Given the description of an element on the screen output the (x, y) to click on. 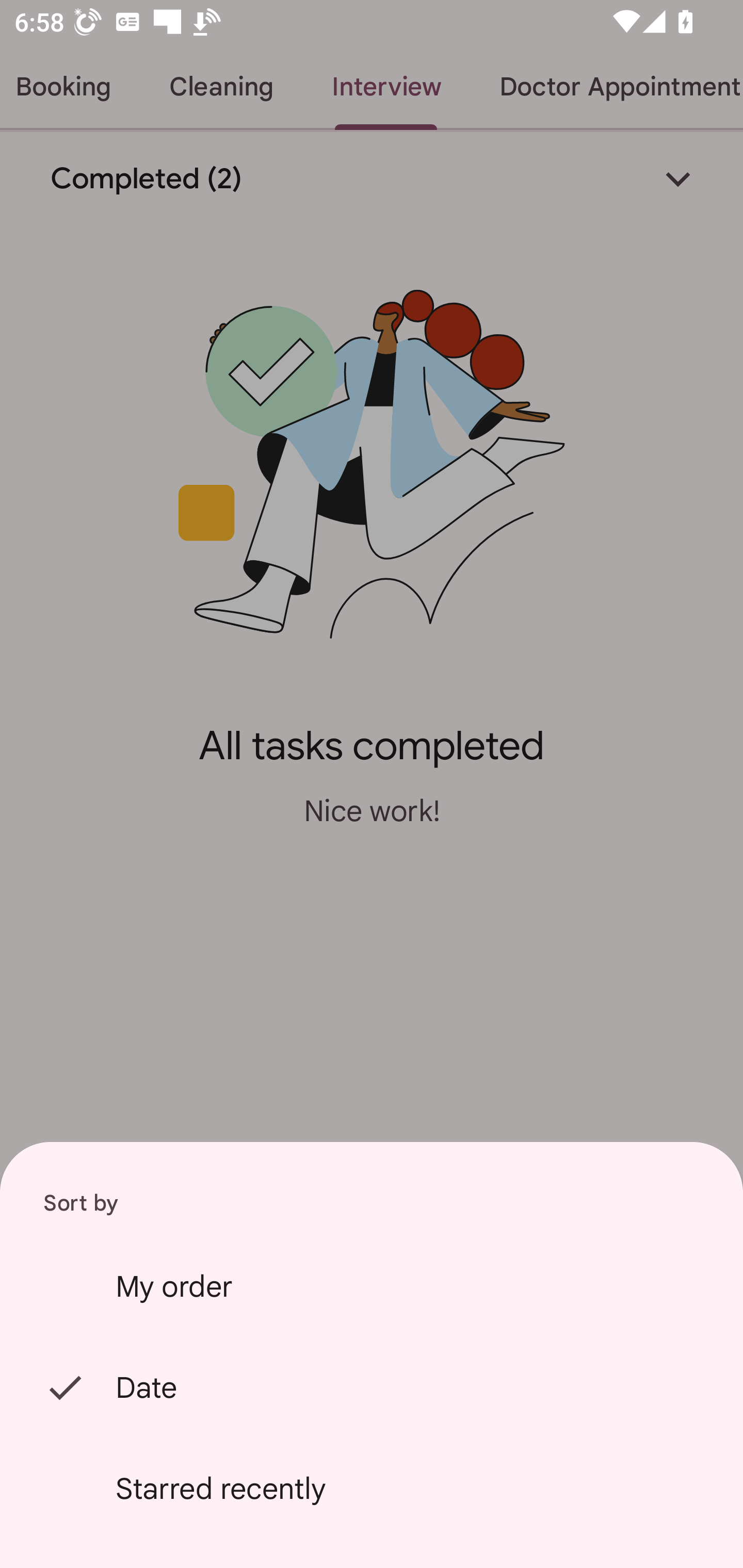
My order (371, 1286)
Date (371, 1387)
Starred recently (371, 1488)
